Given the description of an element on the screen output the (x, y) to click on. 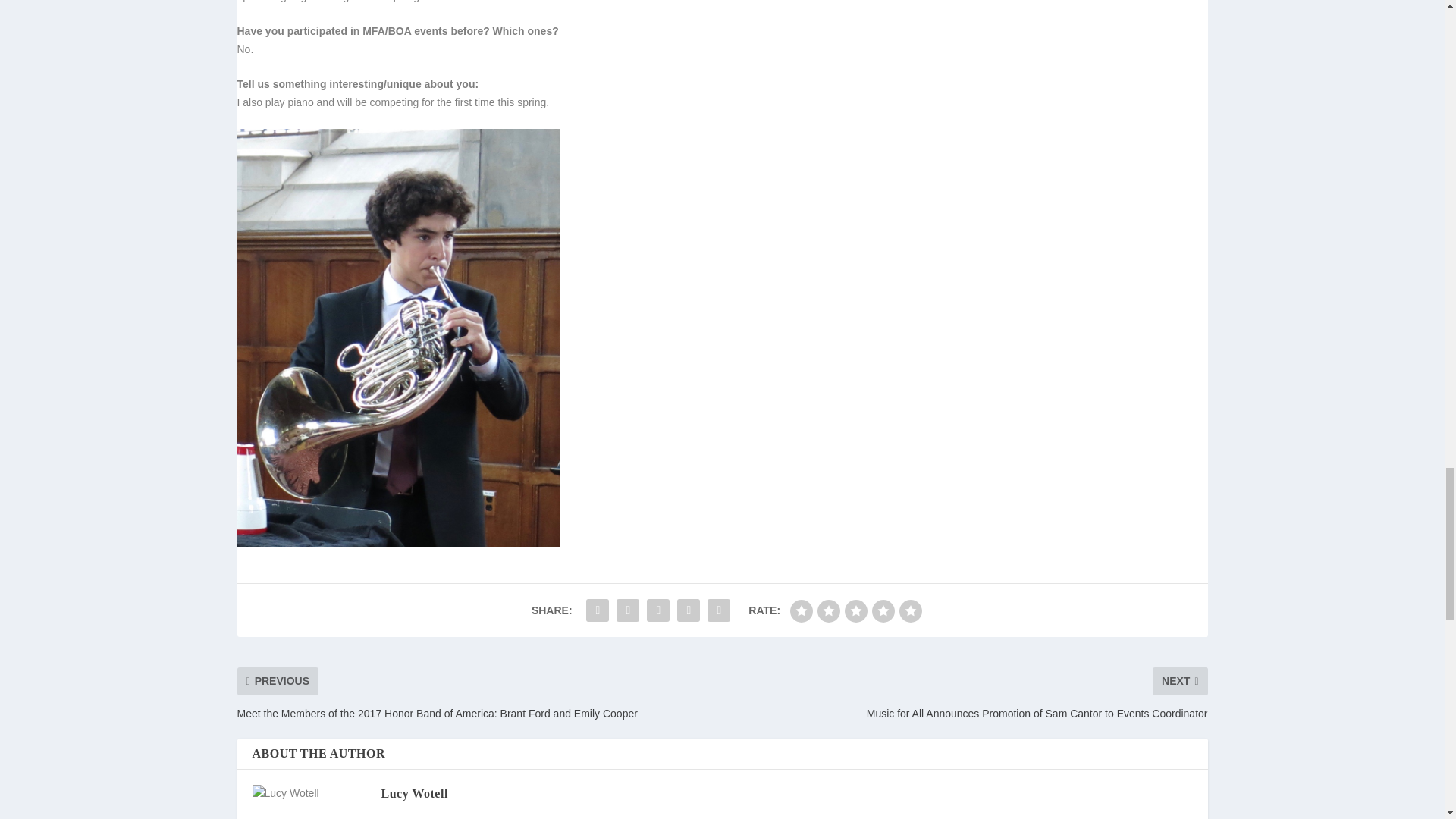
bad (801, 609)
good (883, 609)
poor (828, 609)
regular (855, 609)
